Given the description of an element on the screen output the (x, y) to click on. 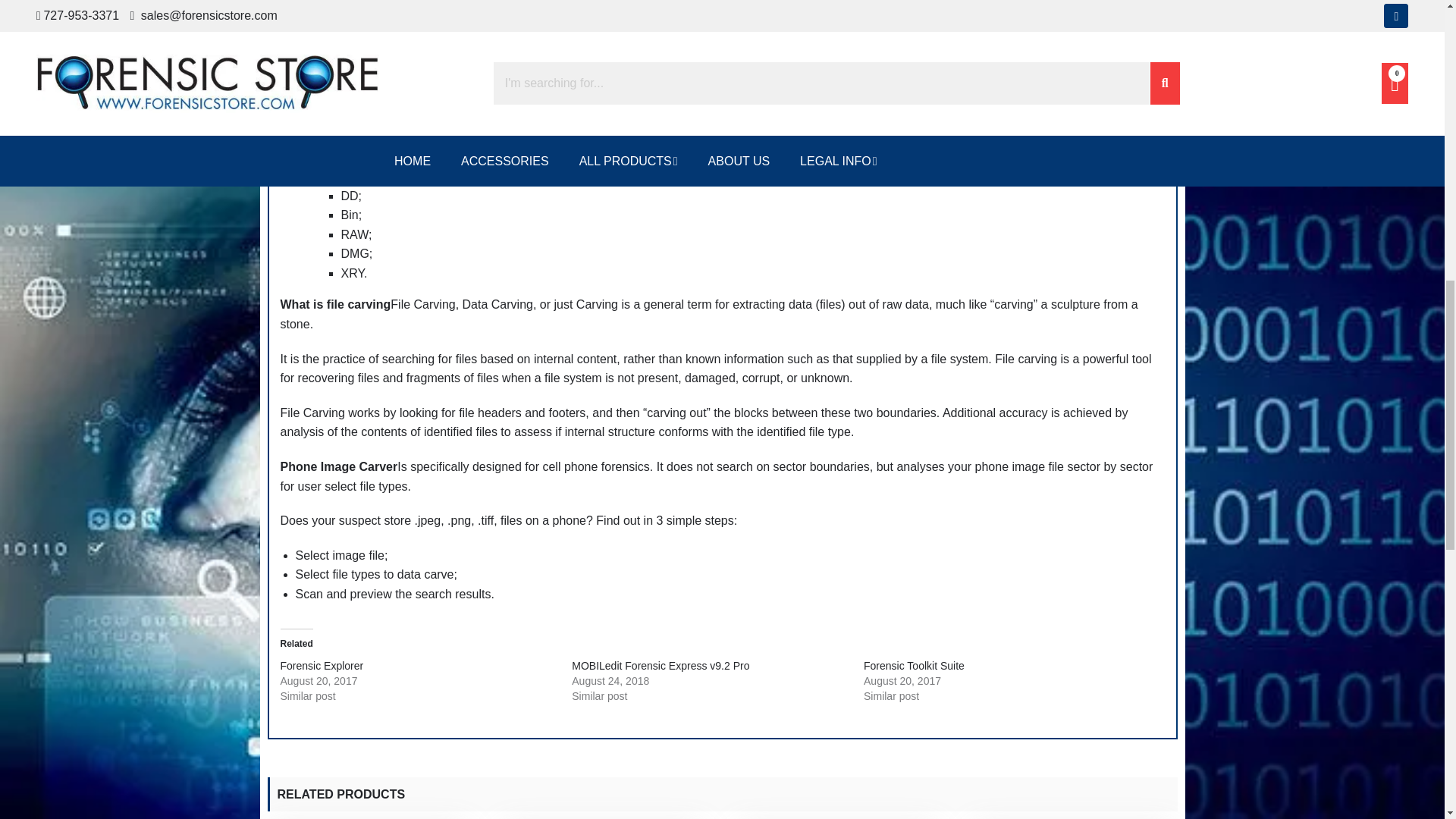
MOBILedit Forensic Express v9.2 Pro (660, 665)
Forensic Explorer (322, 665)
Forensic Toolkit Suite (913, 665)
